Given the description of an element on the screen output the (x, y) to click on. 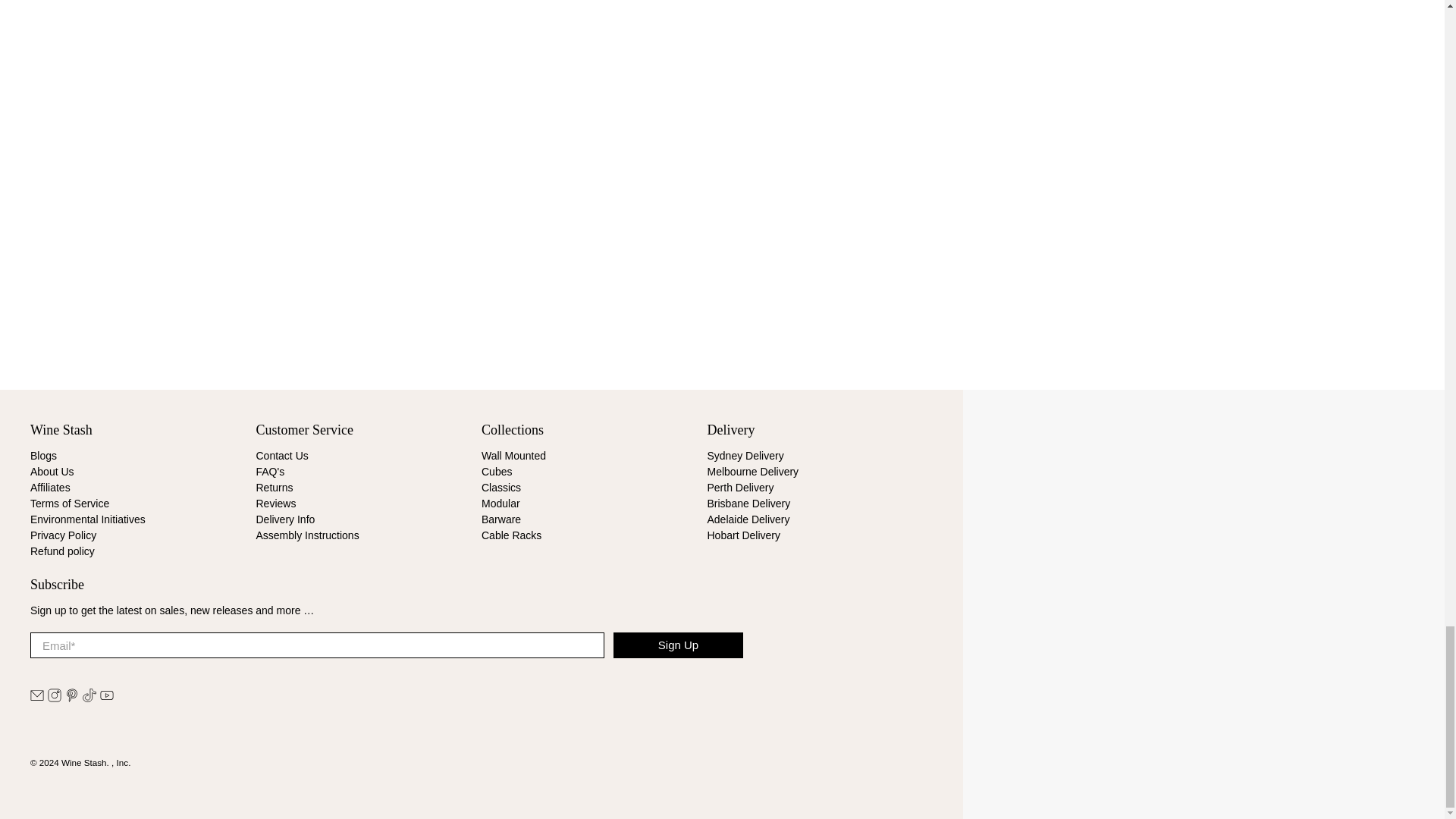
Wine Stash on TikTok (89, 698)
Email Wine Stash (36, 698)
Wine Stash on Instagram (54, 698)
Wine Stash on Pinterest (71, 698)
Wine Stash on YouTube (106, 698)
